Given the description of an element on the screen output the (x, y) to click on. 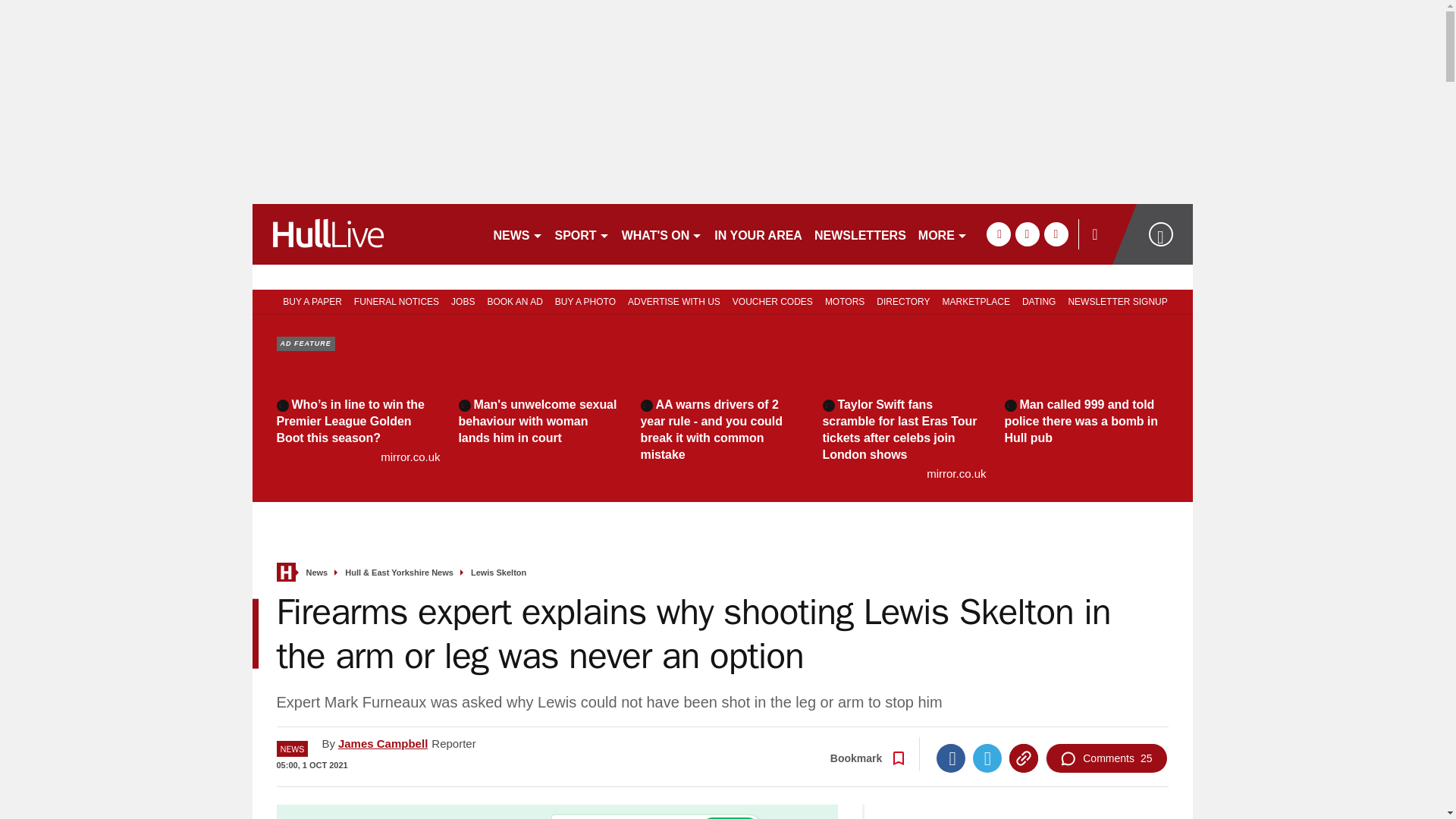
instagram (1055, 233)
WHAT'S ON (662, 233)
twitter (1026, 233)
SPORT (581, 233)
MORE (943, 233)
Twitter (986, 758)
NEWSLETTERS (860, 233)
NEWS (517, 233)
Comments (1105, 758)
IN YOUR AREA (757, 233)
